Given the description of an element on the screen output the (x, y) to click on. 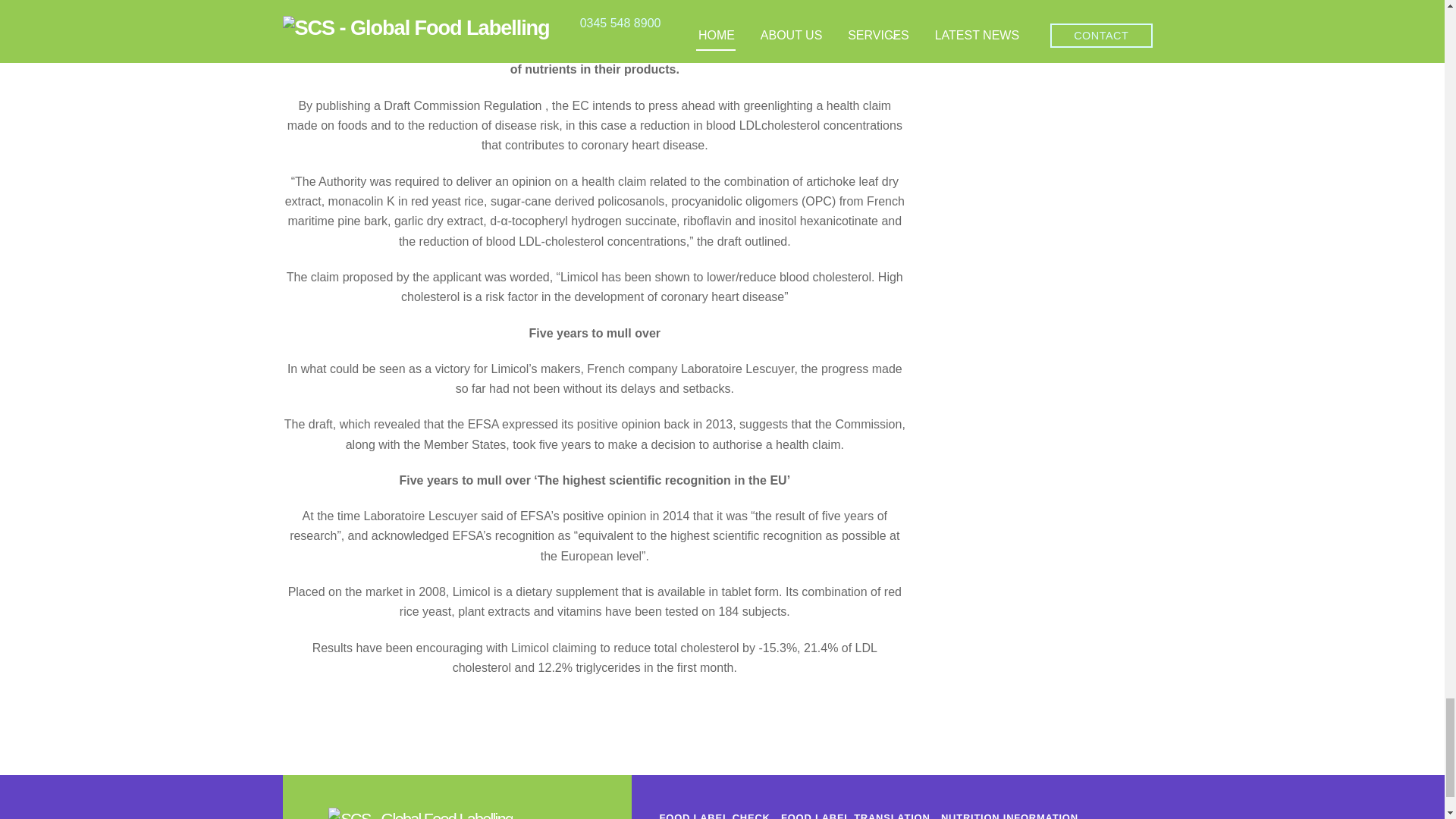
SCS - Global Food Labelling (420, 814)
JOANNE SCOTT (526, 2)
Latest News (627, 2)
